Given the description of an element on the screen output the (x, y) to click on. 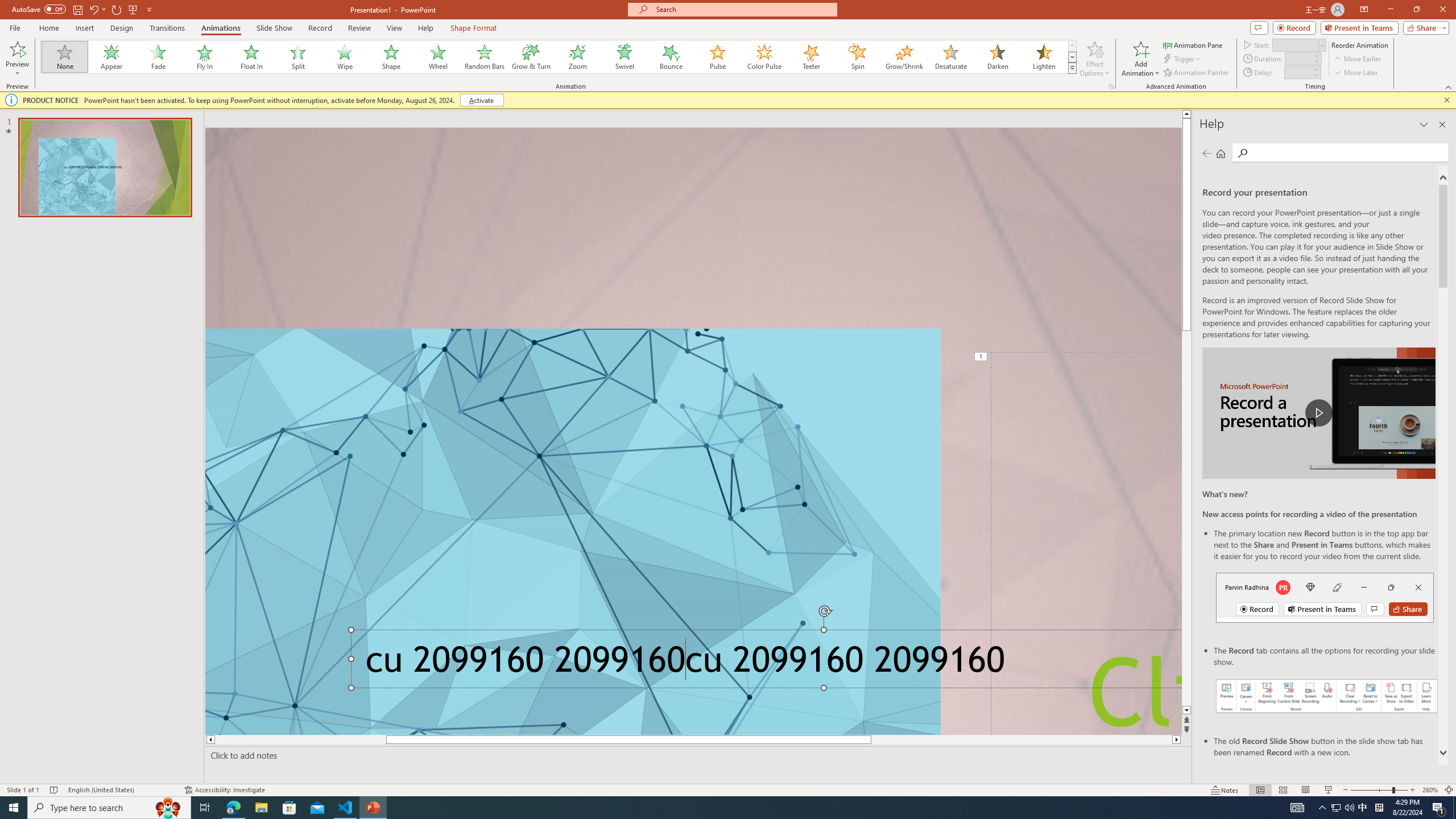
Record your presentations screenshot one (1326, 695)
An abstract genetic concept (693, 430)
Zoom 260% (1430, 790)
Record button in top bar (1324, 597)
Grow & Turn (531, 56)
